Given the description of an element on the screen output the (x, y) to click on. 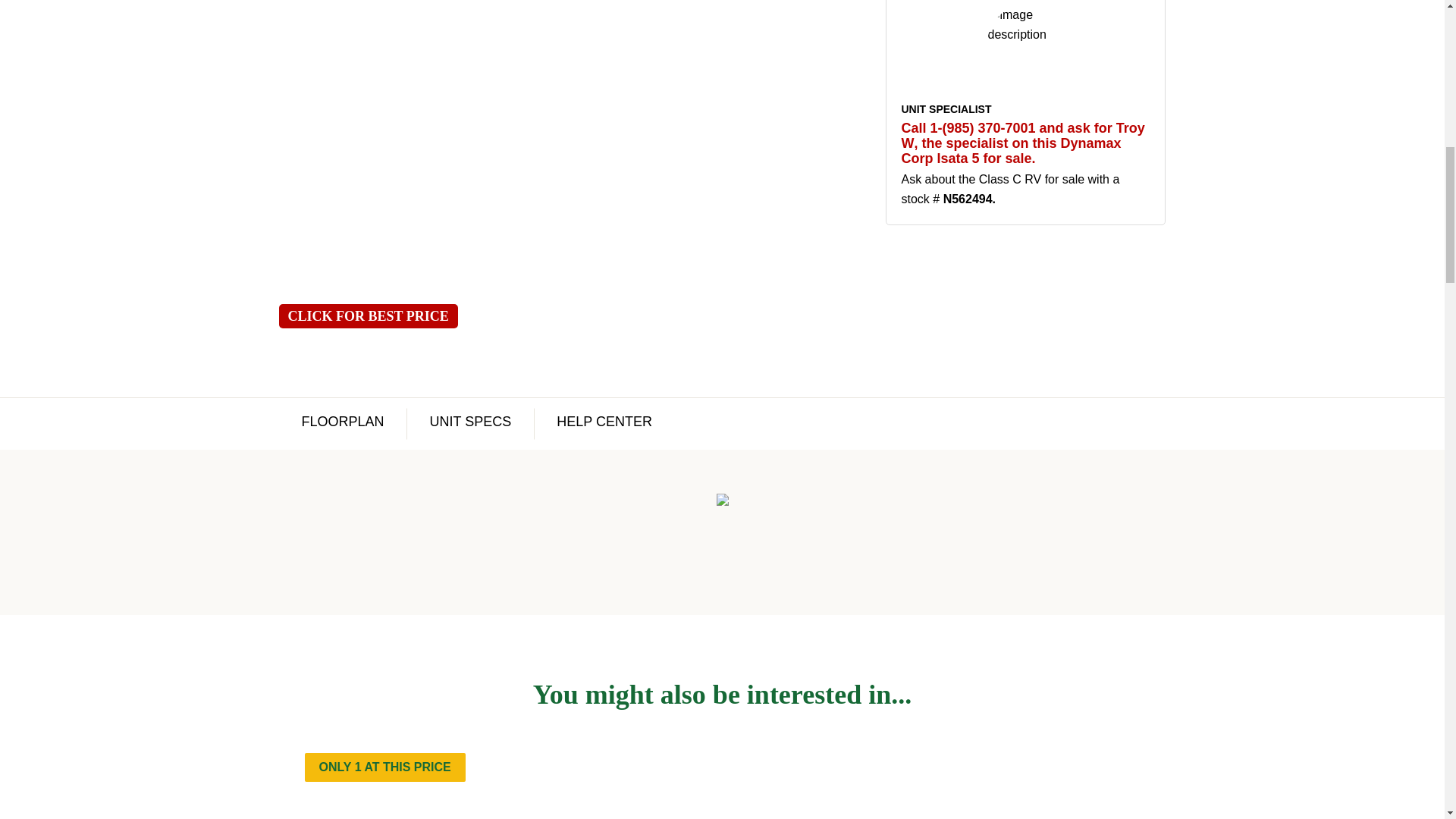
Save and Compare (1142, 766)
CLICK FOR BEST PRICE (368, 315)
HELP CENTER (604, 422)
UNIT SPECS (470, 422)
FLOORPLAN (343, 422)
